Given the description of an element on the screen output the (x, y) to click on. 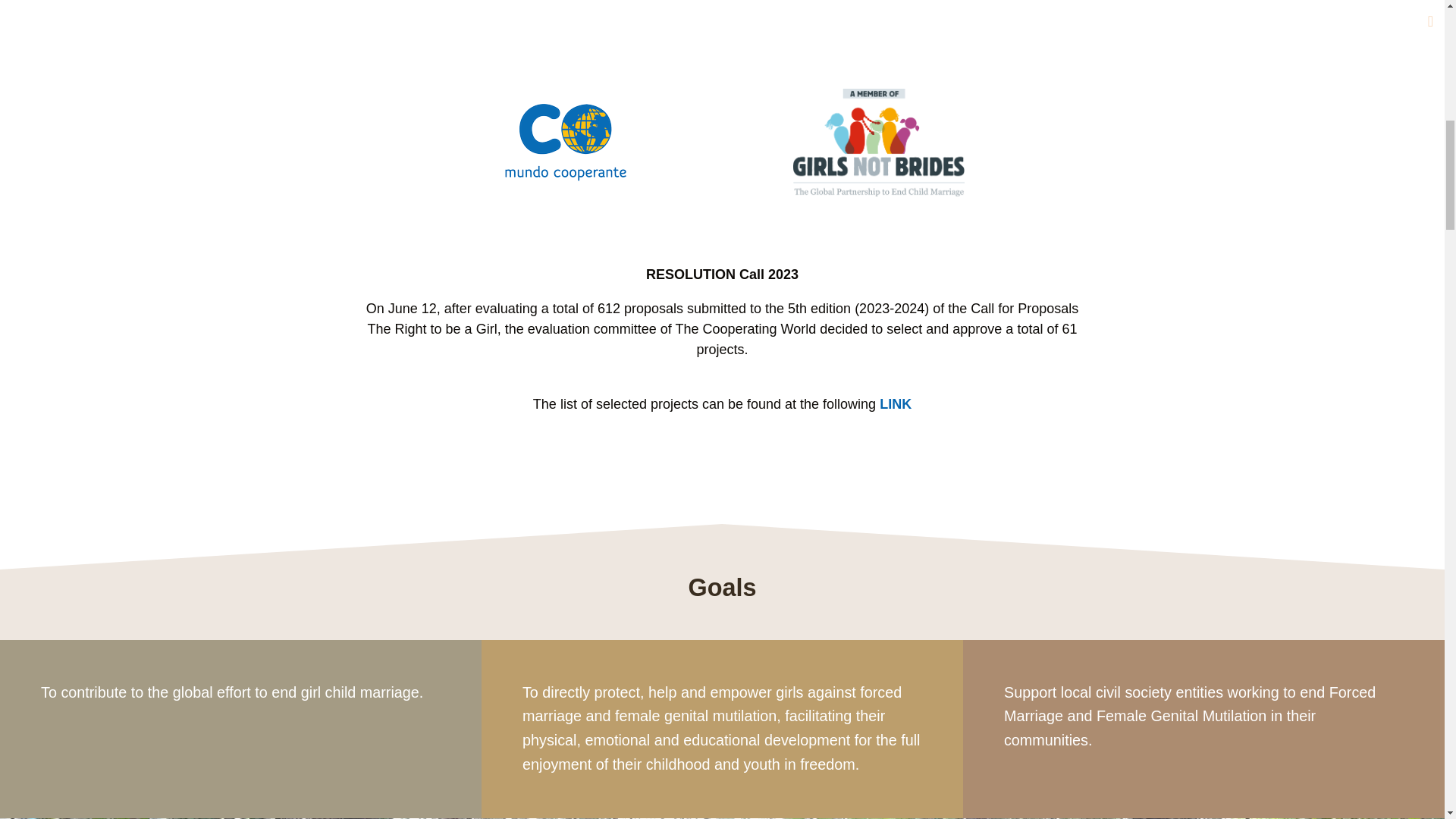
LINK (895, 403)
